Given the description of an element on the screen output the (x, y) to click on. 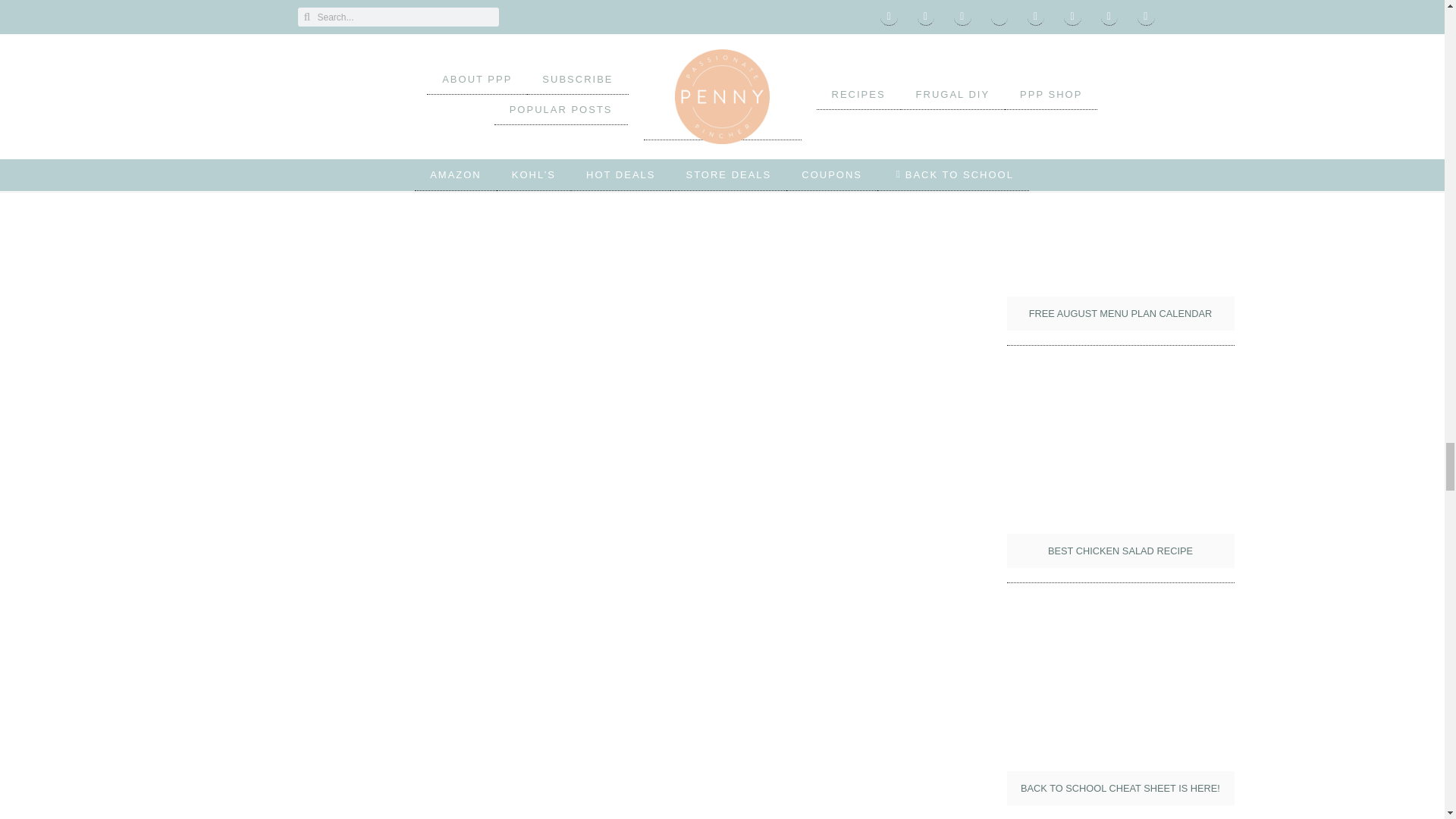
Back to School Cheat Sheet is HERE! (1120, 710)
